Given the description of an element on the screen output the (x, y) to click on. 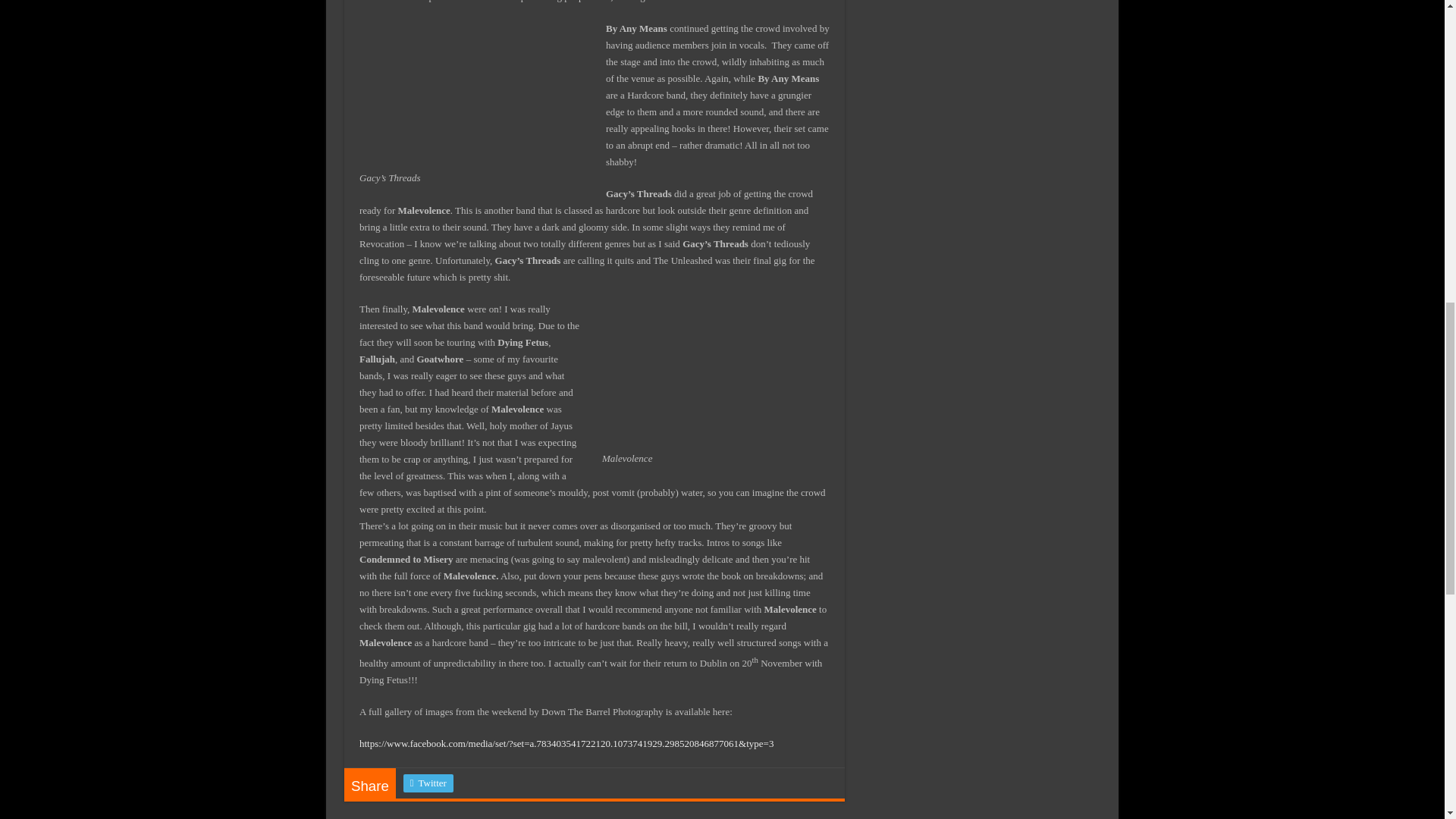
Scroll To Top (1421, 60)
